Given the description of an element on the screen output the (x, y) to click on. 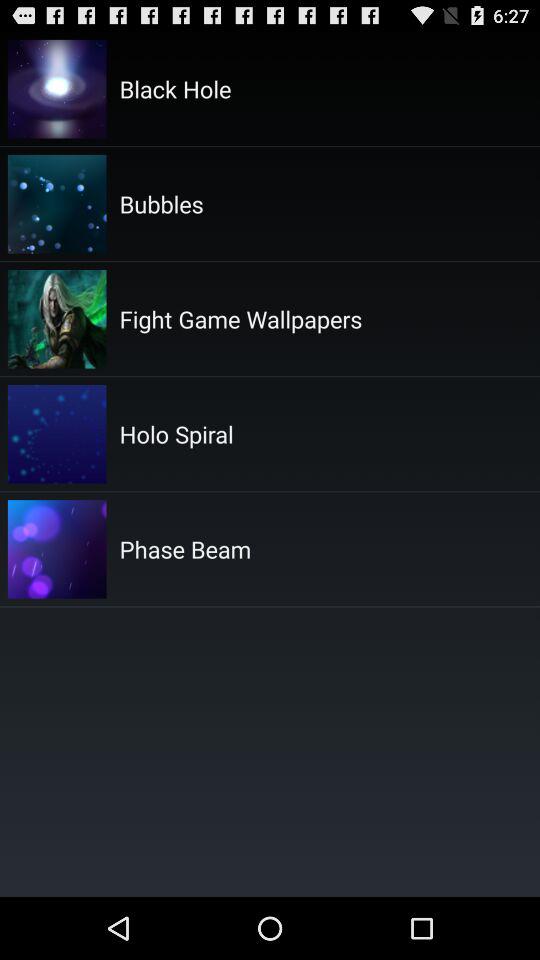
choose the item below the holo spiral icon (185, 549)
